Given the description of an element on the screen output the (x, y) to click on. 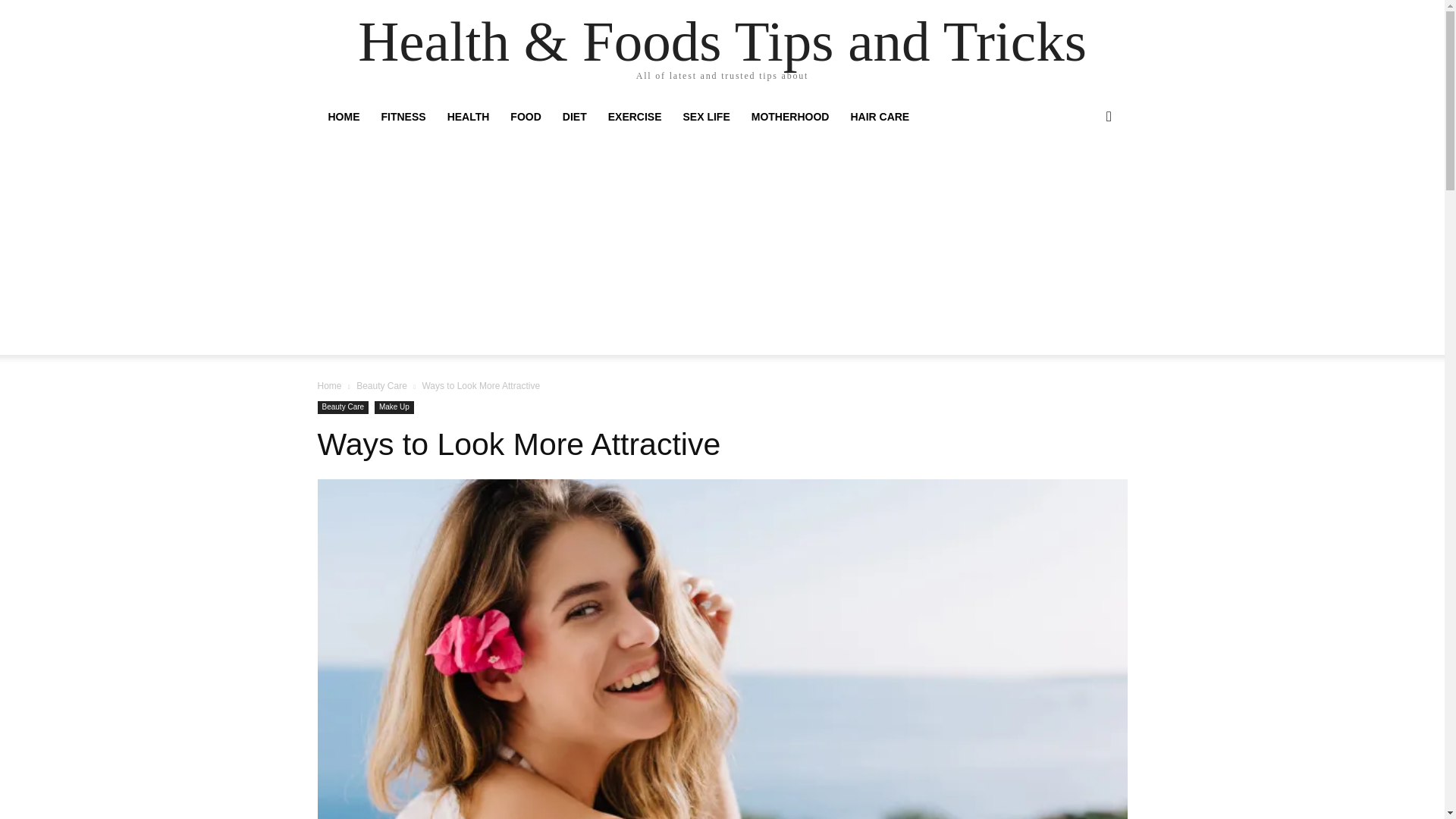
Ways to Look More Attractive (518, 443)
Ways to Look More Attractive (518, 443)
HEALTH (468, 116)
View all posts in Beauty Care (381, 385)
DIET (573, 116)
SEX LIFE (706, 116)
Make Up (393, 407)
FITNESS (402, 116)
Home (328, 385)
Beauty Care (342, 407)
Beauty Care (381, 385)
Search (1085, 177)
HAIR CARE (880, 116)
